Given the description of an element on the screen output the (x, y) to click on. 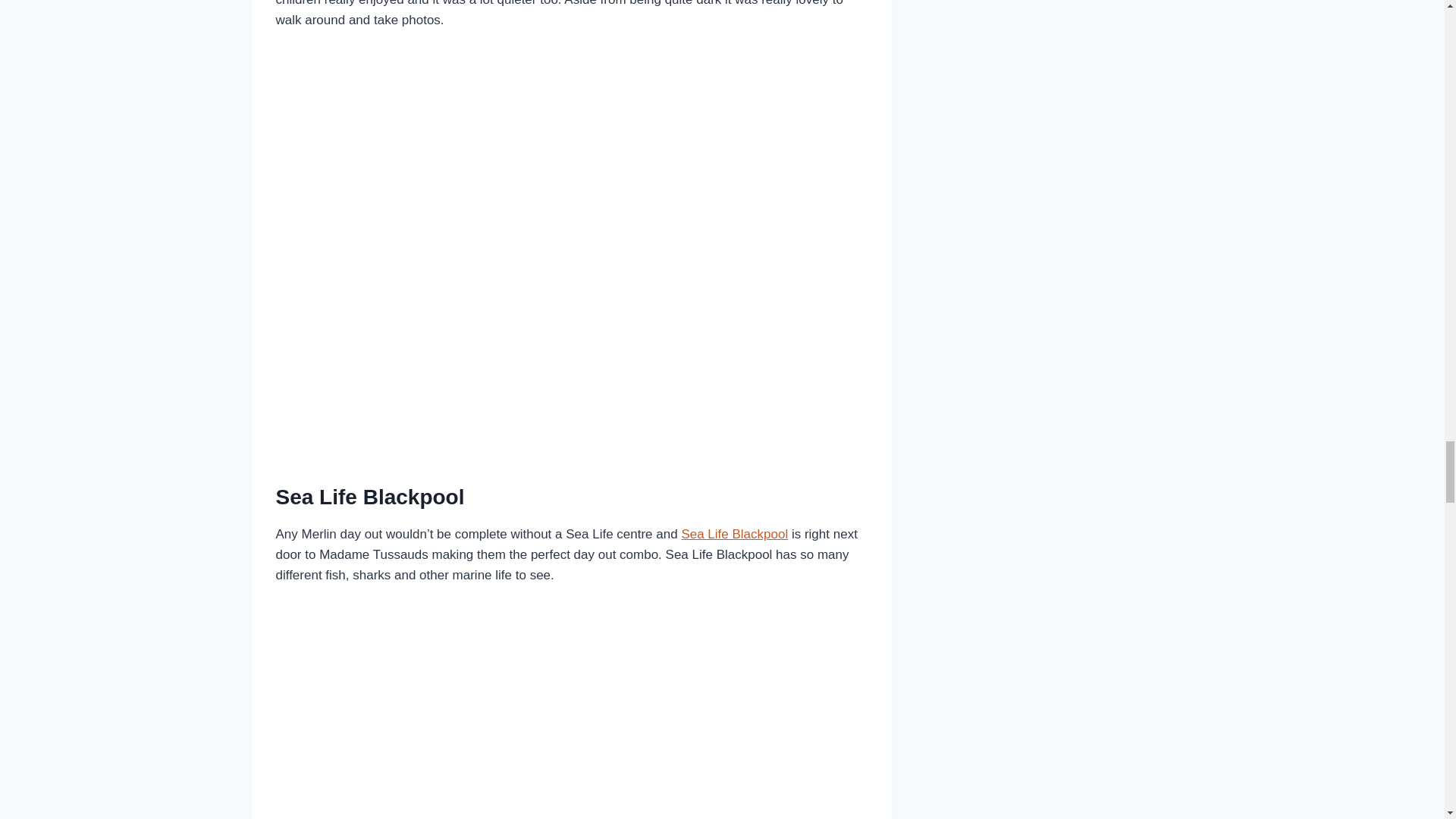
Sea Life Blackpool (734, 534)
